Given the description of an element on the screen output the (x, y) to click on. 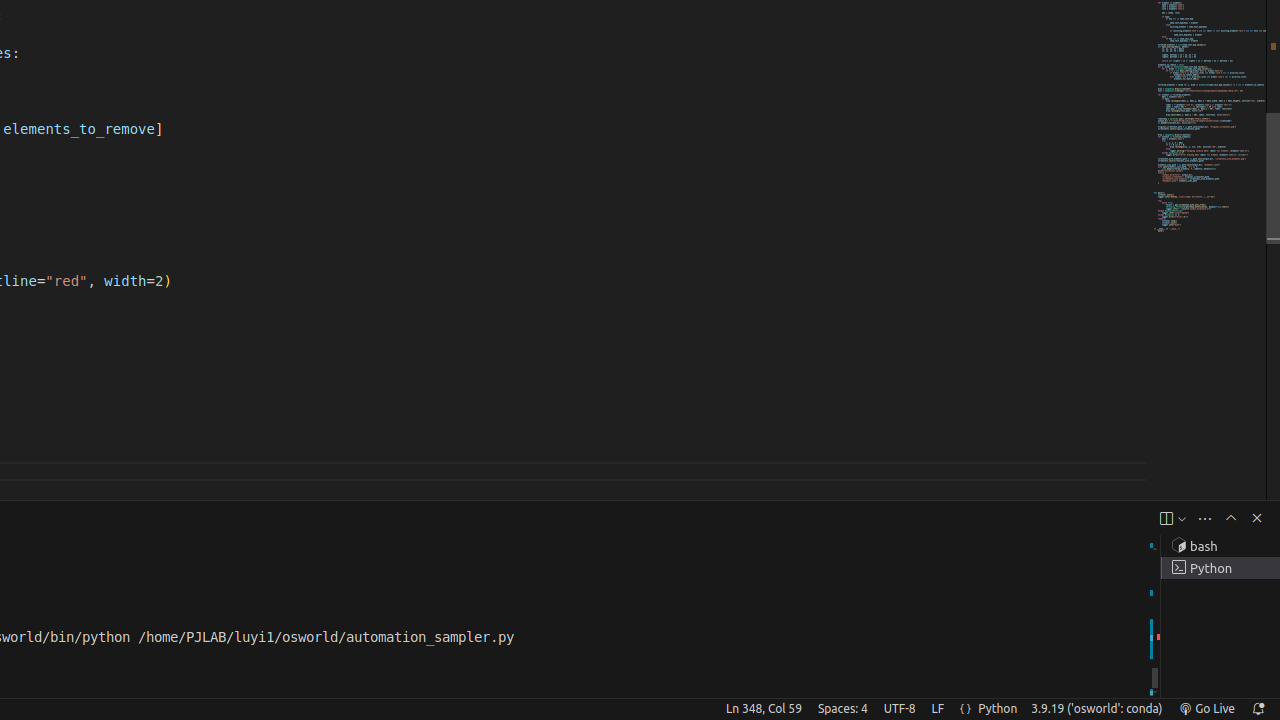
Launch Profile... Element type: push-button (1182, 518)
Terminal 1 bash Element type: list-item (1220, 546)
Maximize Panel Size Element type: check-box (1231, 518)
Python Element type: push-button (998, 709)
Hide Panel Element type: push-button (1257, 518)
